Given the description of an element on the screen output the (x, y) to click on. 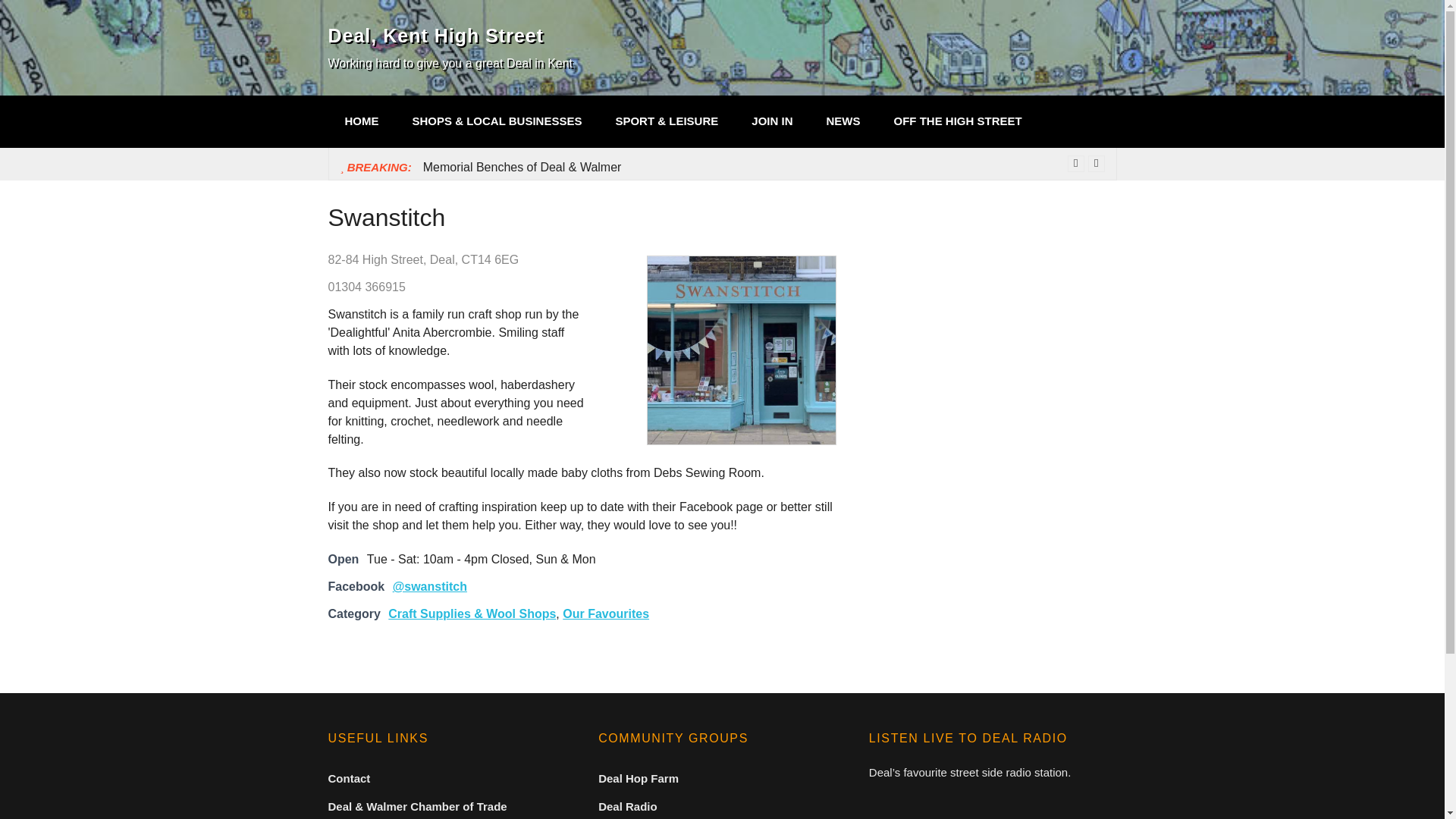
Deal Hop Farm (638, 778)
Our Favourites (605, 613)
Deal Radio (628, 806)
HOME (360, 121)
Deal Hop Farm (638, 778)
webhome (360, 121)
Deal and Walmer Chamber of Trade (416, 806)
Contact (348, 778)
JOIN IN (772, 121)
